Given the description of an element on the screen output the (x, y) to click on. 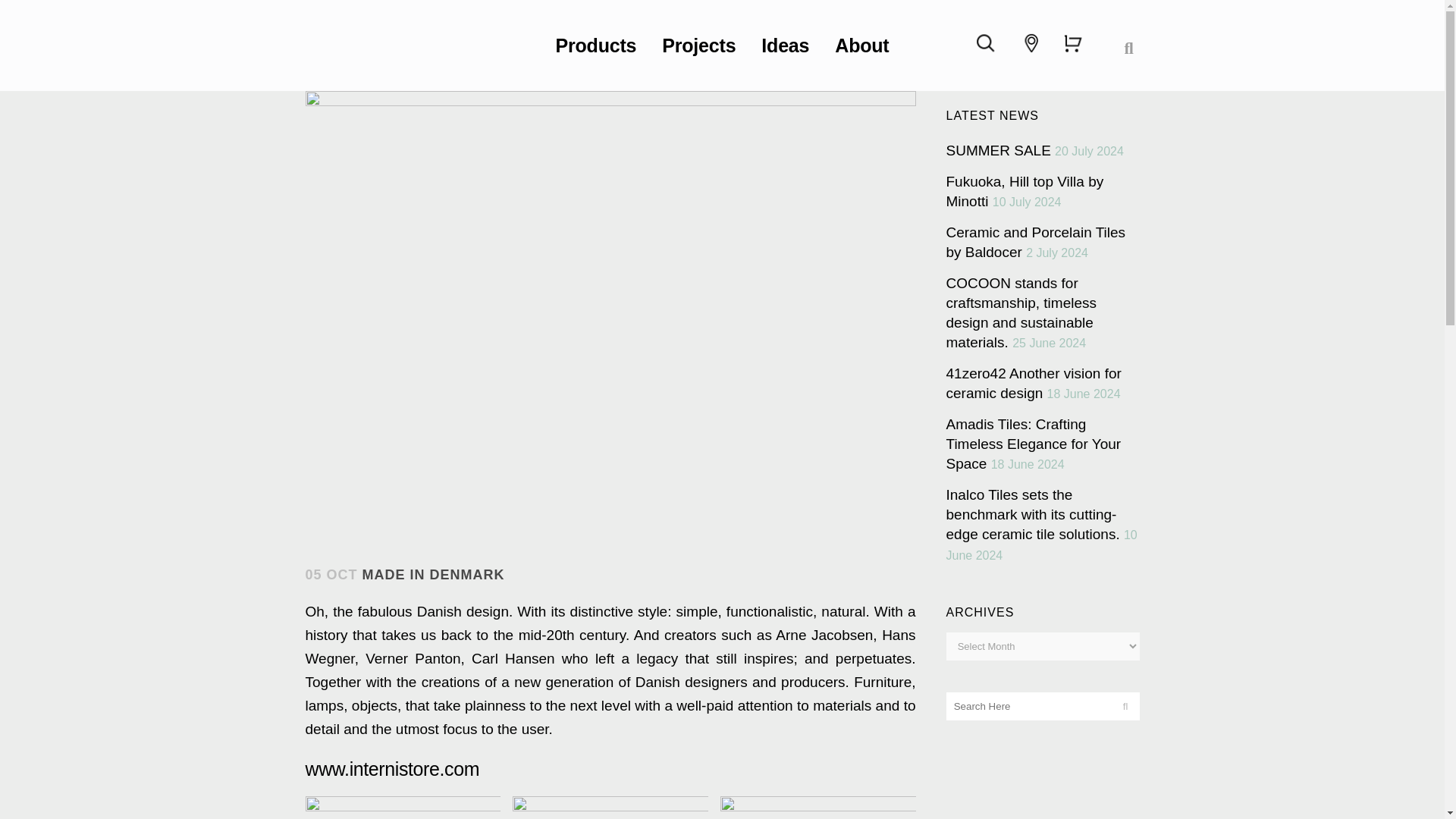
Products (596, 45)
Search (986, 42)
051022-04 (818, 807)
051022-03 (610, 807)
Store Locations (1031, 42)
051022-02 (402, 807)
